Given the description of an element on the screen output the (x, y) to click on. 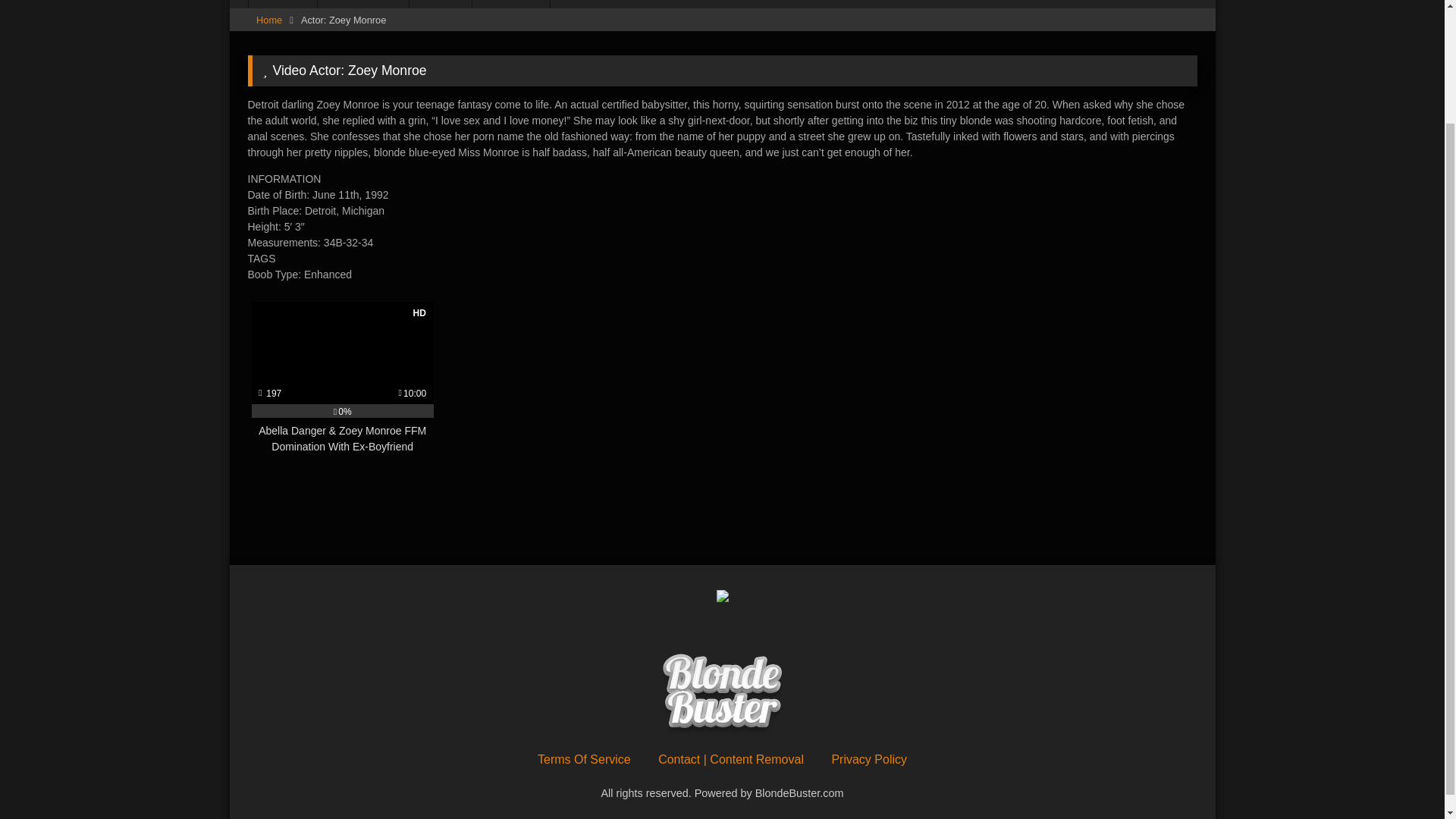
Privacy Policy (869, 758)
Categories (363, 4)
Terms Of Service (583, 758)
Tags (440, 4)
Pornstars (510, 4)
BlondeBuster (721, 694)
Home (269, 20)
Home (282, 4)
